Given the description of an element on the screen output the (x, y) to click on. 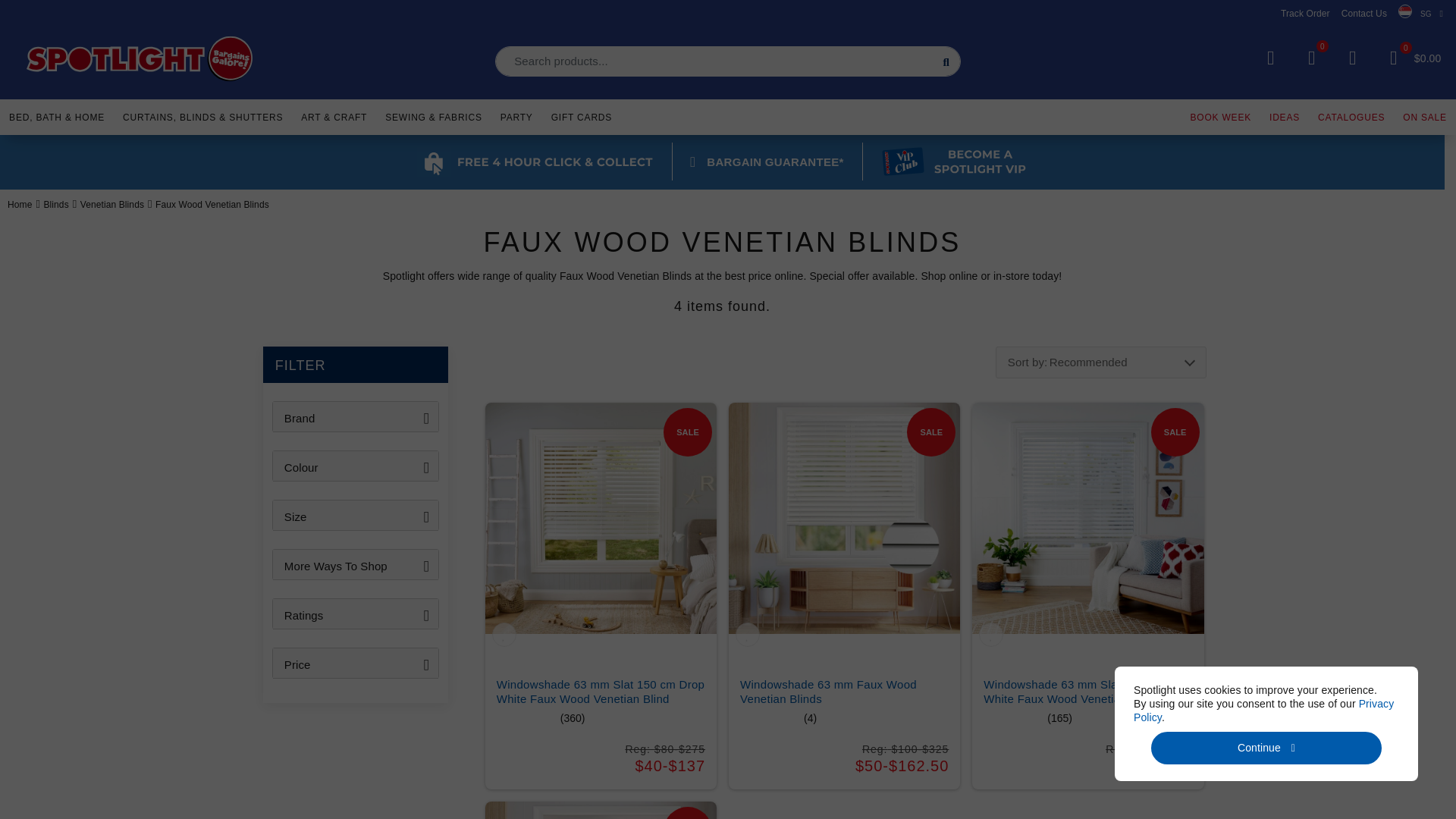
SG (1419, 13)
Track Order (1305, 13)
BOOK WEEK (1220, 115)
Contact Us (1363, 13)
Party (516, 115)
Gift Cards (581, 115)
Ideas (1284, 115)
Spotlight (139, 58)
Search for a product, brand or project (727, 60)
0 (1393, 57)
